Given the description of an element on the screen output the (x, y) to click on. 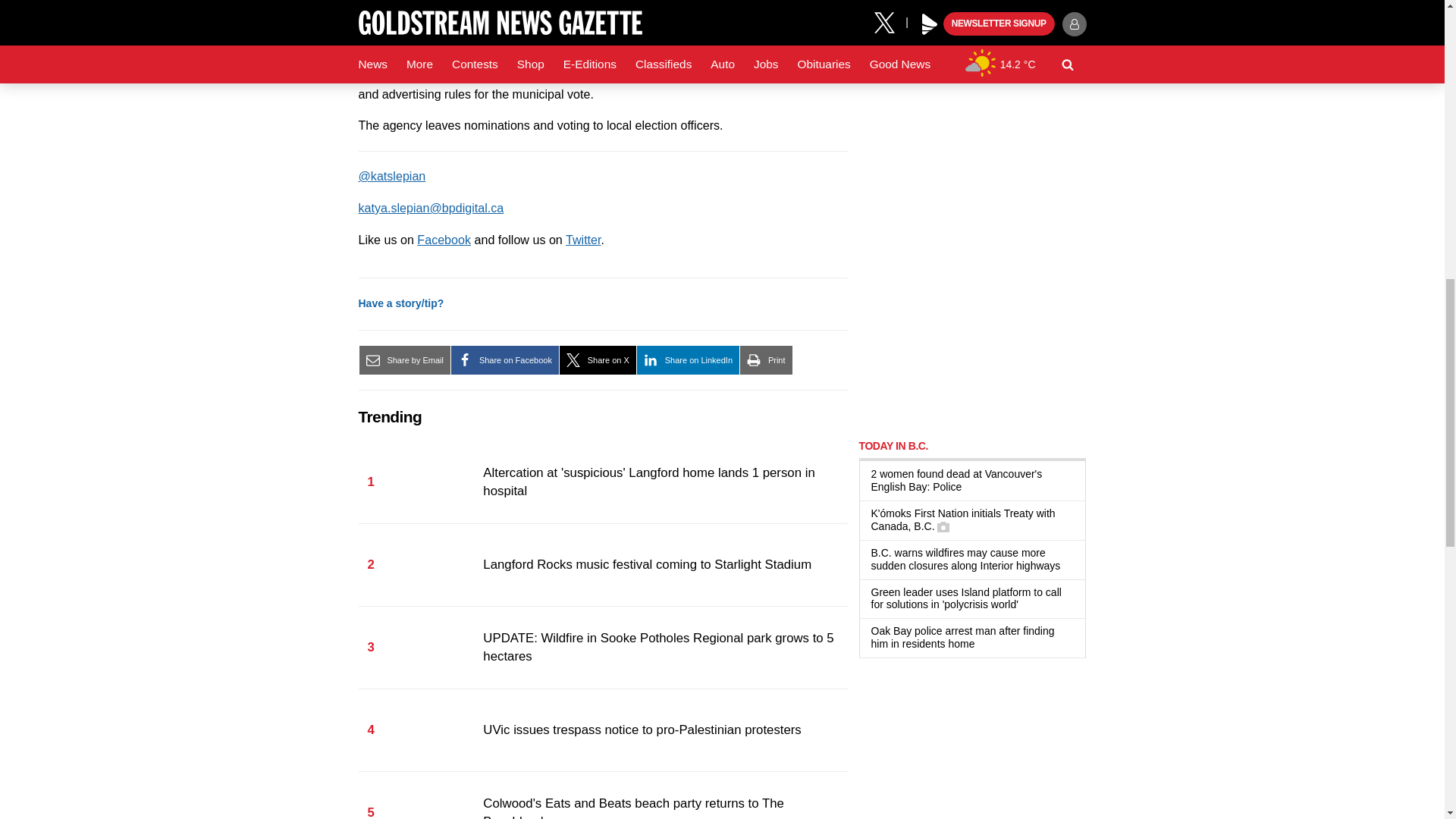
3rd party ad content (972, 329)
Has a gallery (943, 526)
3rd party ad content (972, 124)
3rd party ad content (972, 746)
